Given the description of an element on the screen output the (x, y) to click on. 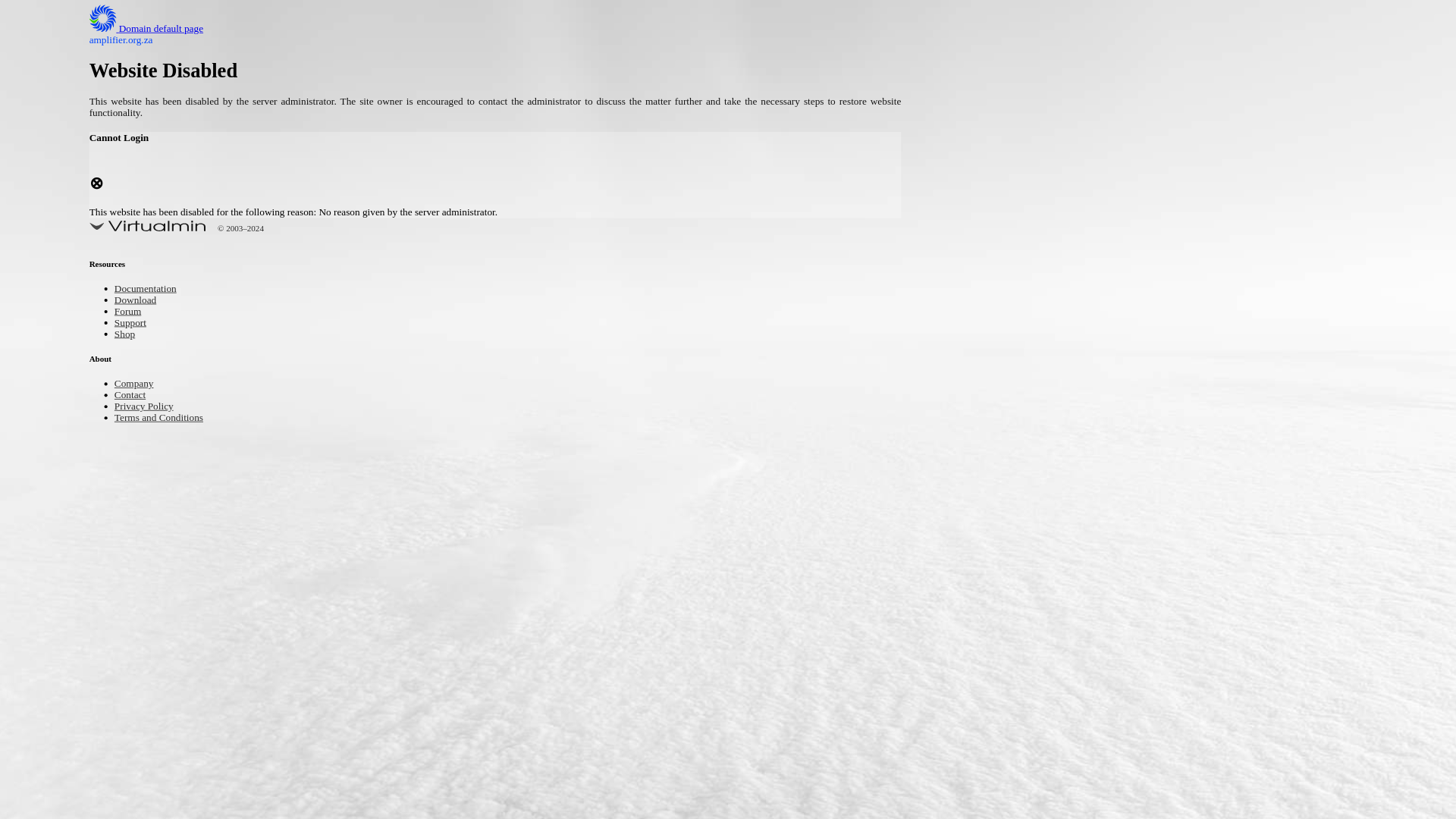
Documentation (152, 289)
Forum (131, 311)
Contact (133, 395)
Domain default page (157, 29)
Terms and Conditions (168, 418)
Privacy Policy (150, 406)
Download (140, 300)
Shop (127, 334)
Company (138, 383)
Support (133, 323)
